Given the description of an element on the screen output the (x, y) to click on. 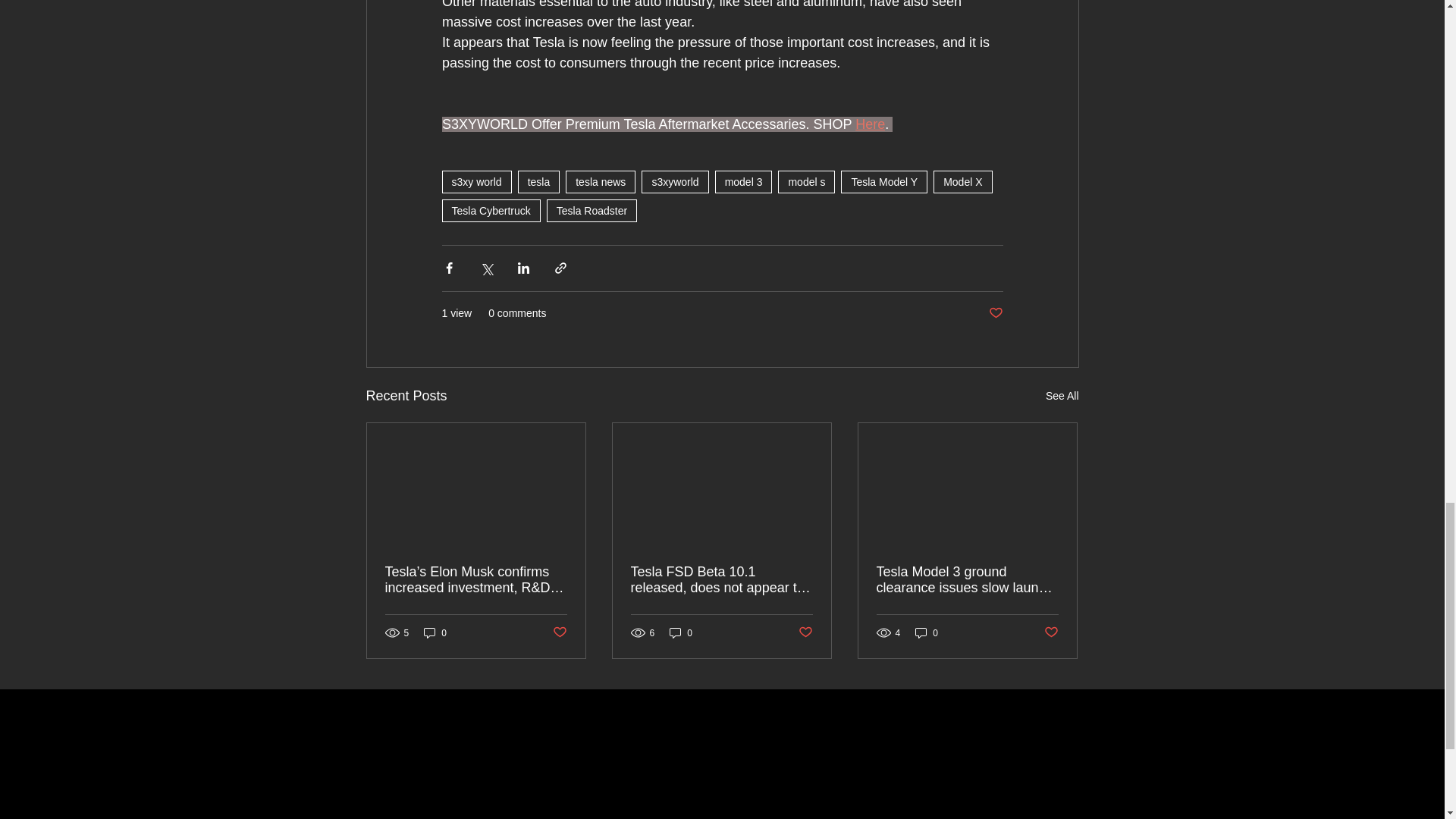
Tesla Model Y (884, 181)
s3xy world (476, 181)
model 3 (743, 181)
Model X (962, 181)
Here (870, 124)
model s (805, 181)
tesla (539, 181)
See All (1061, 395)
Tesla Roadster (592, 210)
tesla news (600, 181)
